Given the description of an element on the screen output the (x, y) to click on. 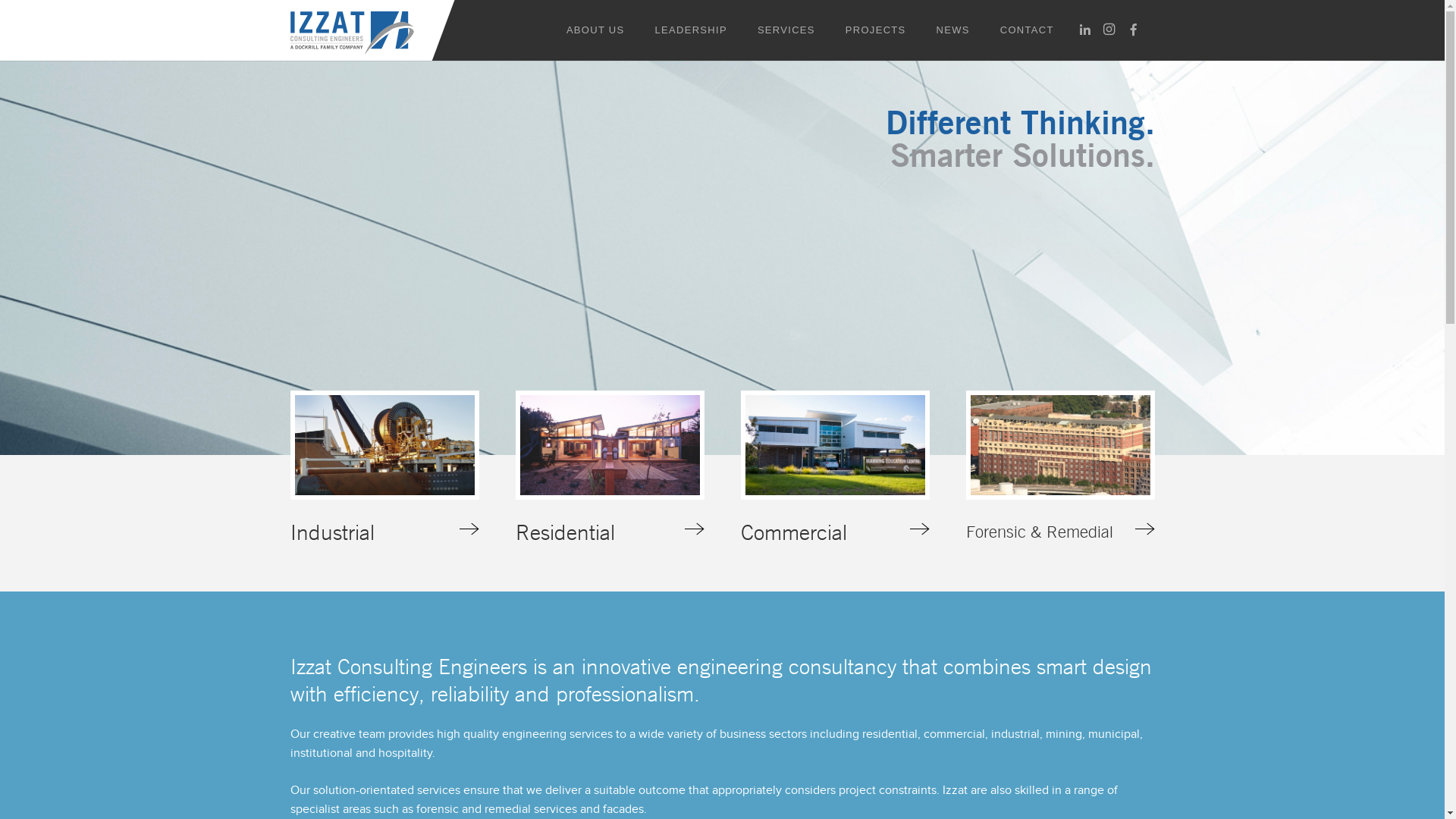
Facebook Element type: hover (1133, 29)
ABOUT US Element type: text (595, 30)
Commercial Element type: text (834, 468)
SERVICES Element type: text (786, 30)
LEADERSHIP Element type: text (691, 30)
PROJECTS Element type: text (875, 30)
Residential Element type: text (609, 468)
Industrial Element type: text (383, 468)
Forensic & Remedial Element type: text (1060, 468)
CONTACT Element type: text (1027, 30)
Instagram Element type: hover (1109, 29)
NEWS Element type: text (953, 30)
LinkedIn Element type: hover (1085, 29)
